Given the description of an element on the screen output the (x, y) to click on. 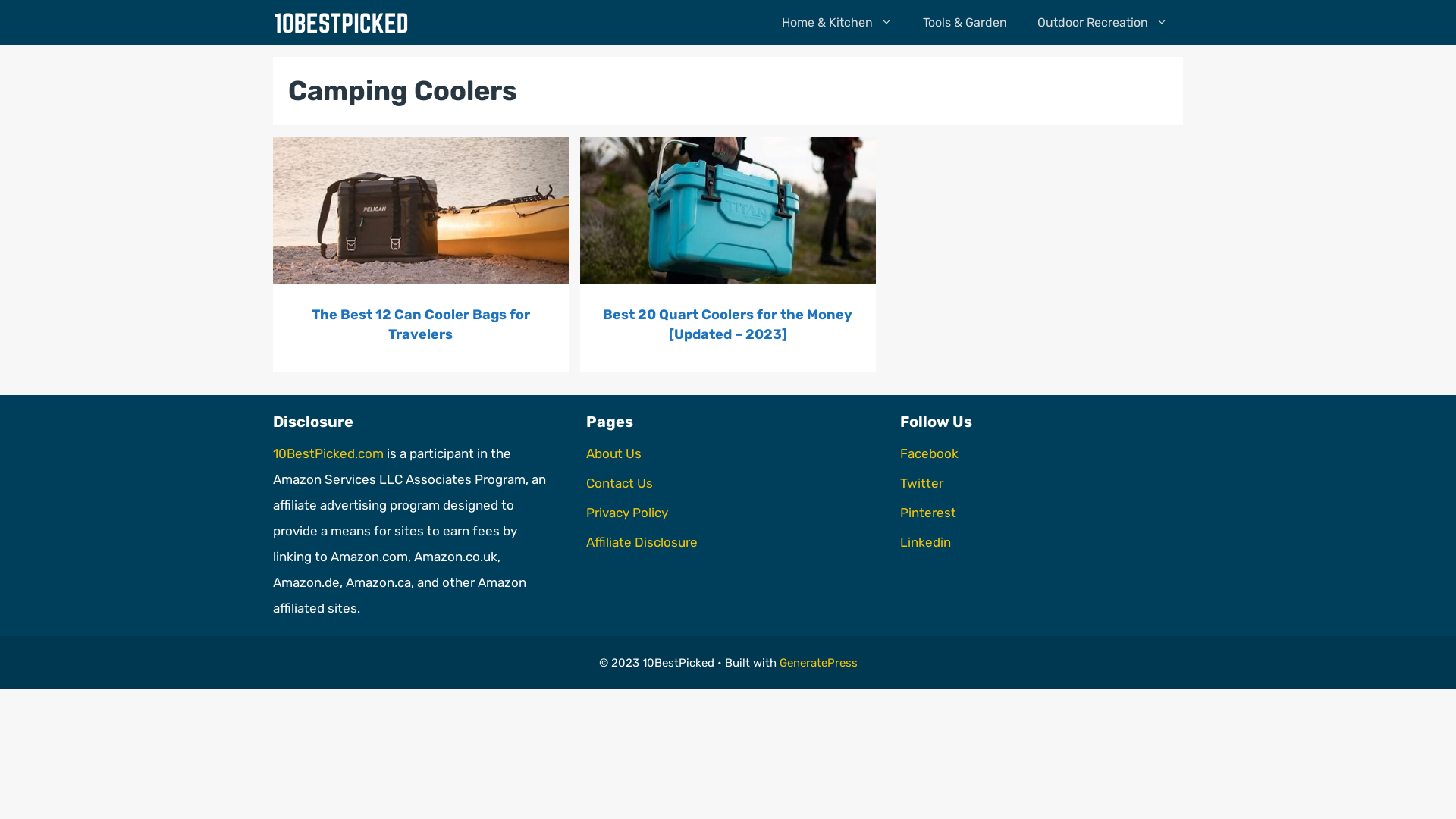
Contact Us Element type: text (619, 482)
Best 12 Can Cooler Bags Element type: hover (420, 210)
Tools & Garden Element type: text (964, 22)
The Best 12 Can Cooler Bags for Travelers Element type: text (420, 324)
About Us Element type: text (613, 453)
Home & Kitchen Element type: text (836, 22)
Affiliate Disclosure Element type: text (641, 541)
Best 20 Quart Coolers Element type: hover (727, 210)
Pinterest Element type: text (928, 512)
Facebook Element type: text (929, 453)
10BestPicked Element type: hover (345, 22)
GeneratePress Element type: text (818, 662)
Outdoor Recreation Element type: text (1102, 22)
Linkedin Element type: text (925, 541)
Twitter Element type: text (921, 482)
10BestPicked.com Element type: text (328, 453)
Privacy Policy Element type: text (627, 512)
10BestPicked Element type: hover (341, 22)
